Given the description of an element on the screen output the (x, y) to click on. 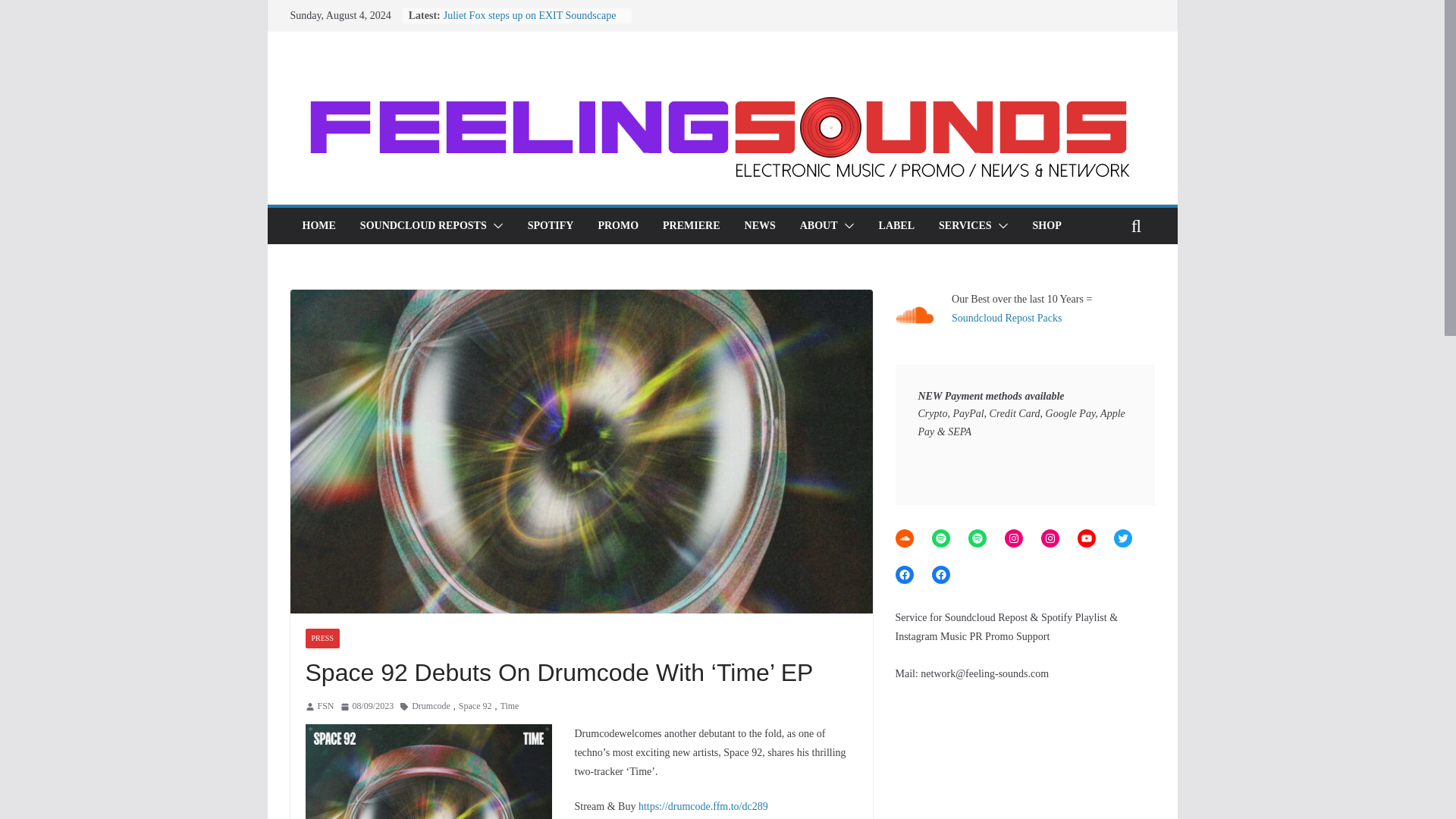
PREMIERE (690, 225)
Time (509, 706)
PROMO (617, 225)
LABEL (896, 225)
SOUNDCLOUD REPOSTS (422, 225)
SHOP (1046, 225)
SPOTIFY (550, 225)
NEWS (760, 225)
Drumcode (430, 706)
HOME (317, 225)
14:58 (367, 706)
FSN (325, 706)
ABOUT (818, 225)
Space 92 (475, 706)
FSN (325, 706)
